Given the description of an element on the screen output the (x, y) to click on. 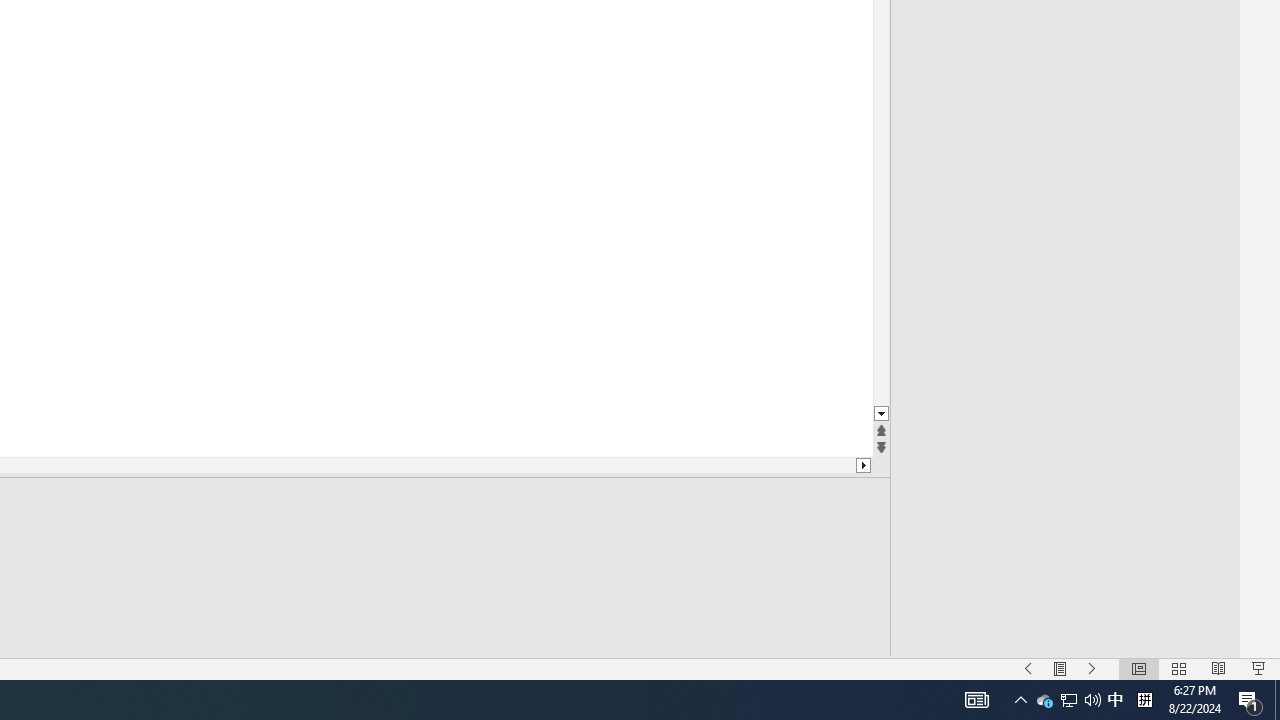
Slide Show Next On (1092, 668)
Slide Show Previous On (1028, 668)
Menu On (1060, 668)
